Given the description of an element on the screen output the (x, y) to click on. 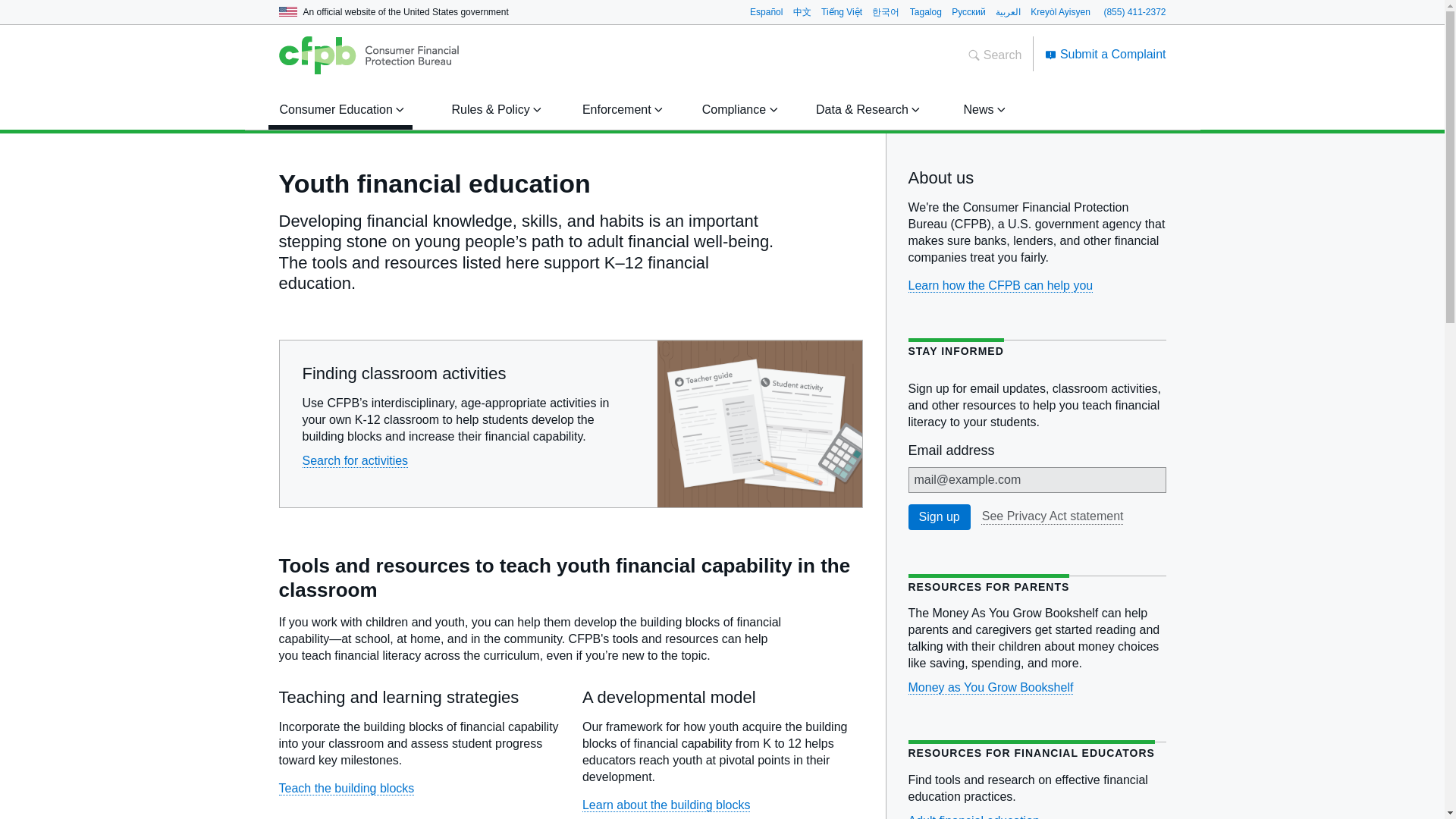
Tagalog (926, 10)
Submit a Complaint (1105, 52)
Consumer Education (339, 109)
Search (995, 54)
